Given the description of an element on the screen output the (x, y) to click on. 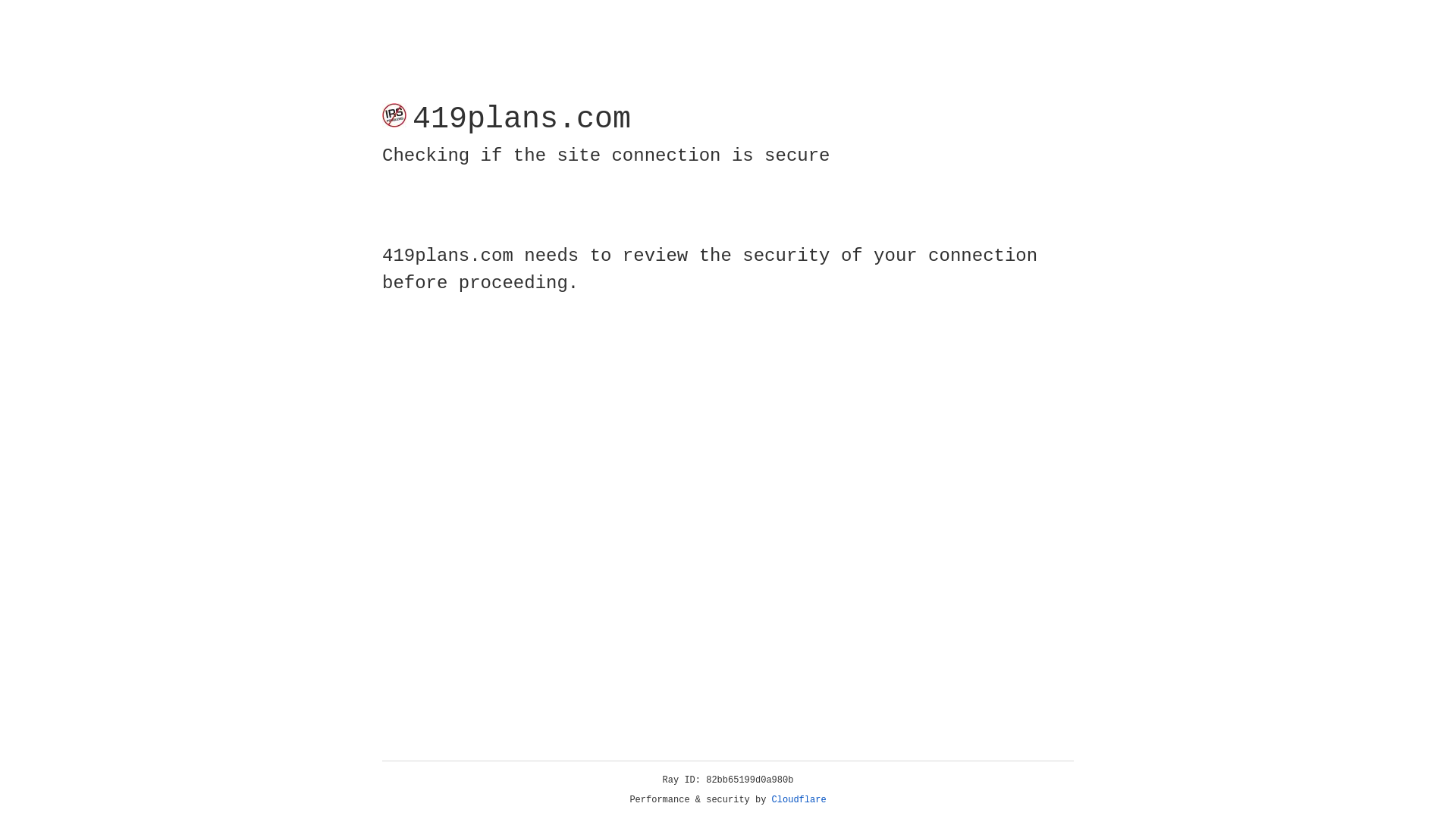
Cloudflare Element type: text (798, 799)
